Given the description of an element on the screen output the (x, y) to click on. 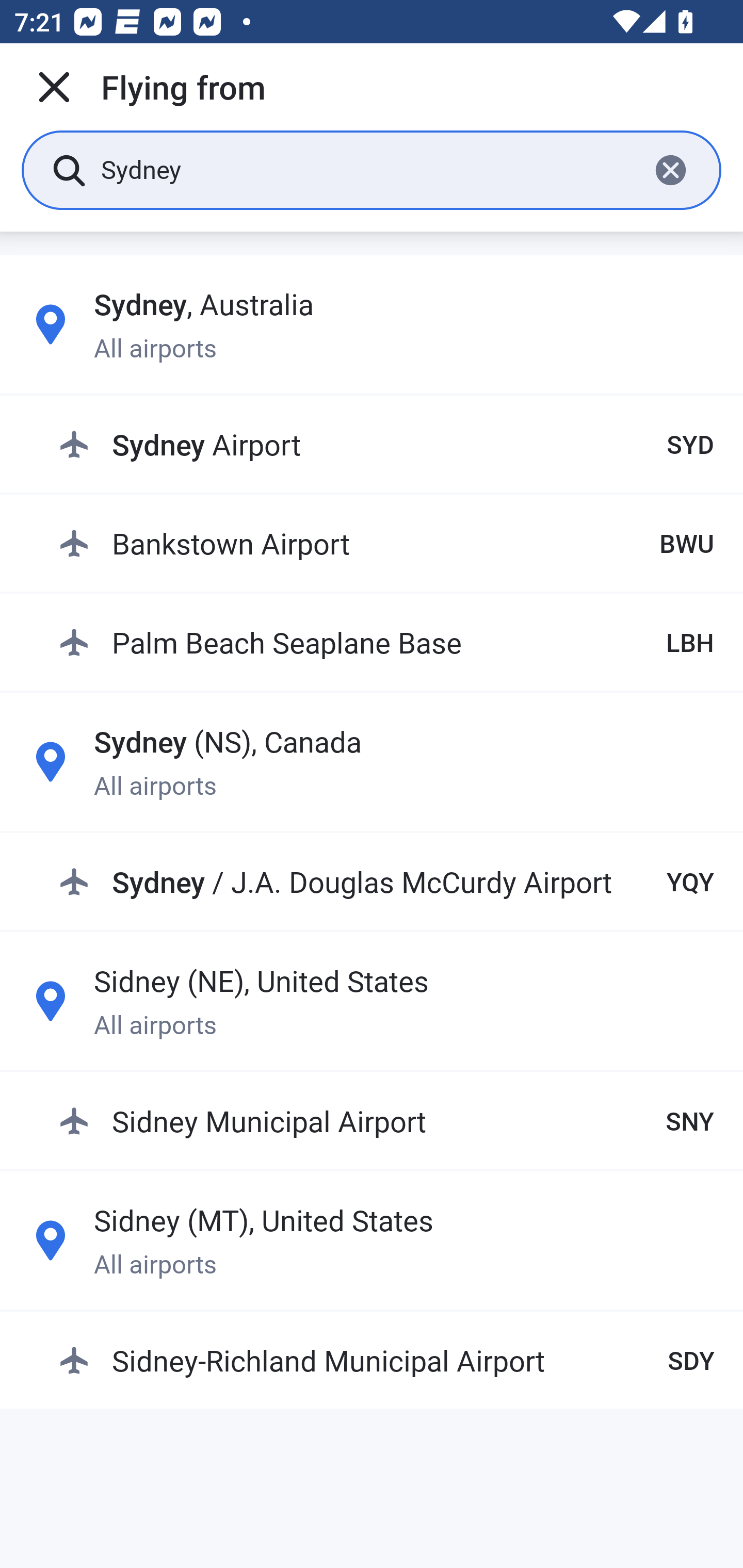
Sydney (367, 169)
Sydney, Australia All airports (371, 324)
Sydney Airport SYD (385, 444)
Bankstown Airport BWU (385, 543)
Palm Beach Seaplane Base LBH (385, 641)
Sydney (NS), Canada All airports (371, 761)
Sydney / J.A. Douglas McCurdy Airport YQY (385, 881)
Sidney (NE), United States All airports (371, 1001)
Sidney Municipal Airport SNY (385, 1120)
Sidney (MT), United States All airports (371, 1240)
Sidney-Richland Municipal Airport SDY (385, 1360)
